Given the description of an element on the screen output the (x, y) to click on. 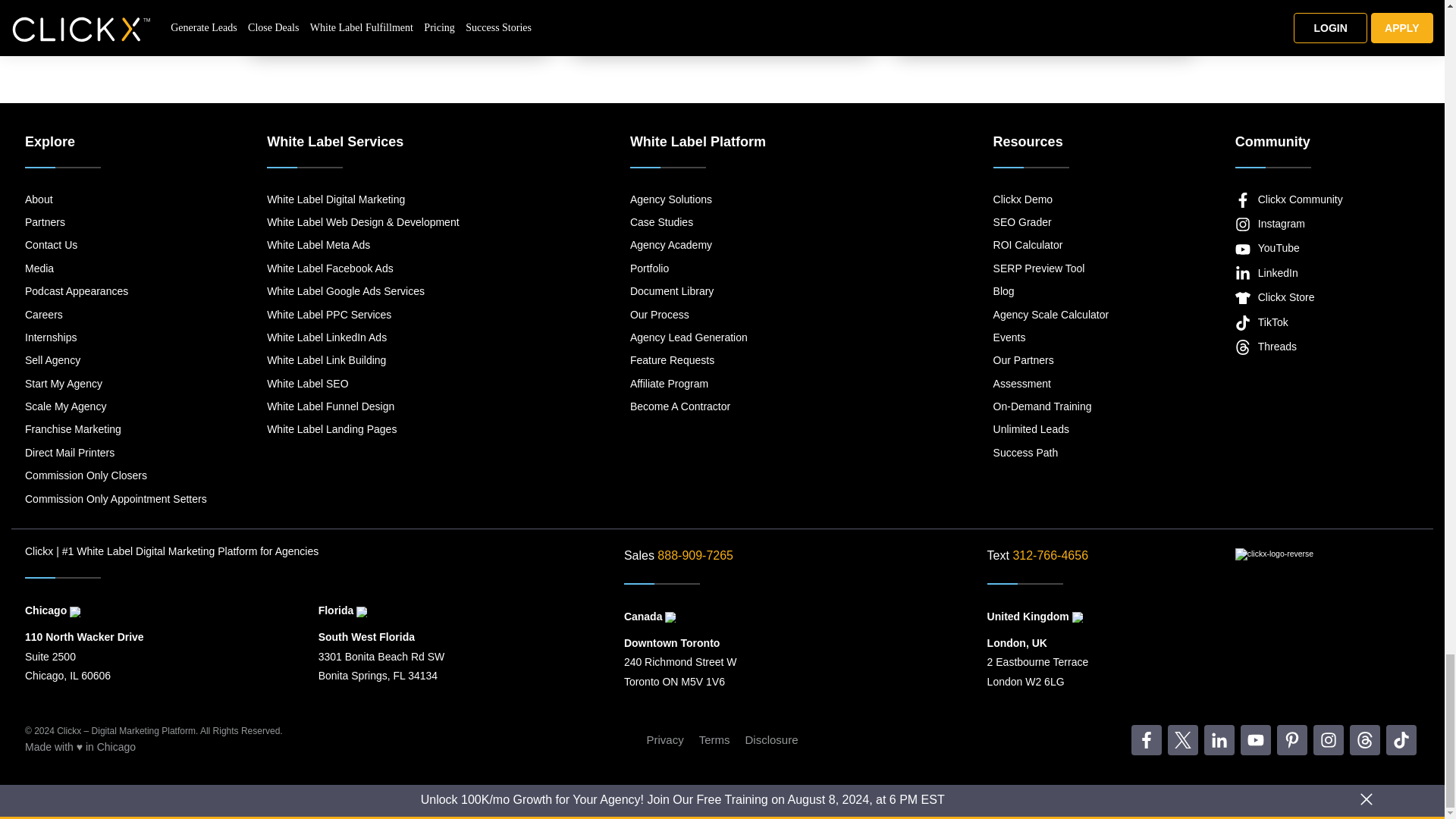
About (115, 199)
The Top 3 Social Media Campaigns of 2012 (721, 7)
Partners (115, 221)
Direct Mail Printers (115, 452)
Podcast Appearances (115, 290)
Media (115, 268)
Commission Only Closers (115, 475)
Franchise Marketing (115, 428)
How to Get Your Website on the Front Page of Google (1045, 7)
Scale My Agency (115, 406)
Sell Agency (115, 360)
Contact Us (115, 244)
Careers (115, 314)
Internships (115, 337)
Start My Agency (115, 383)
